Given the description of an element on the screen output the (x, y) to click on. 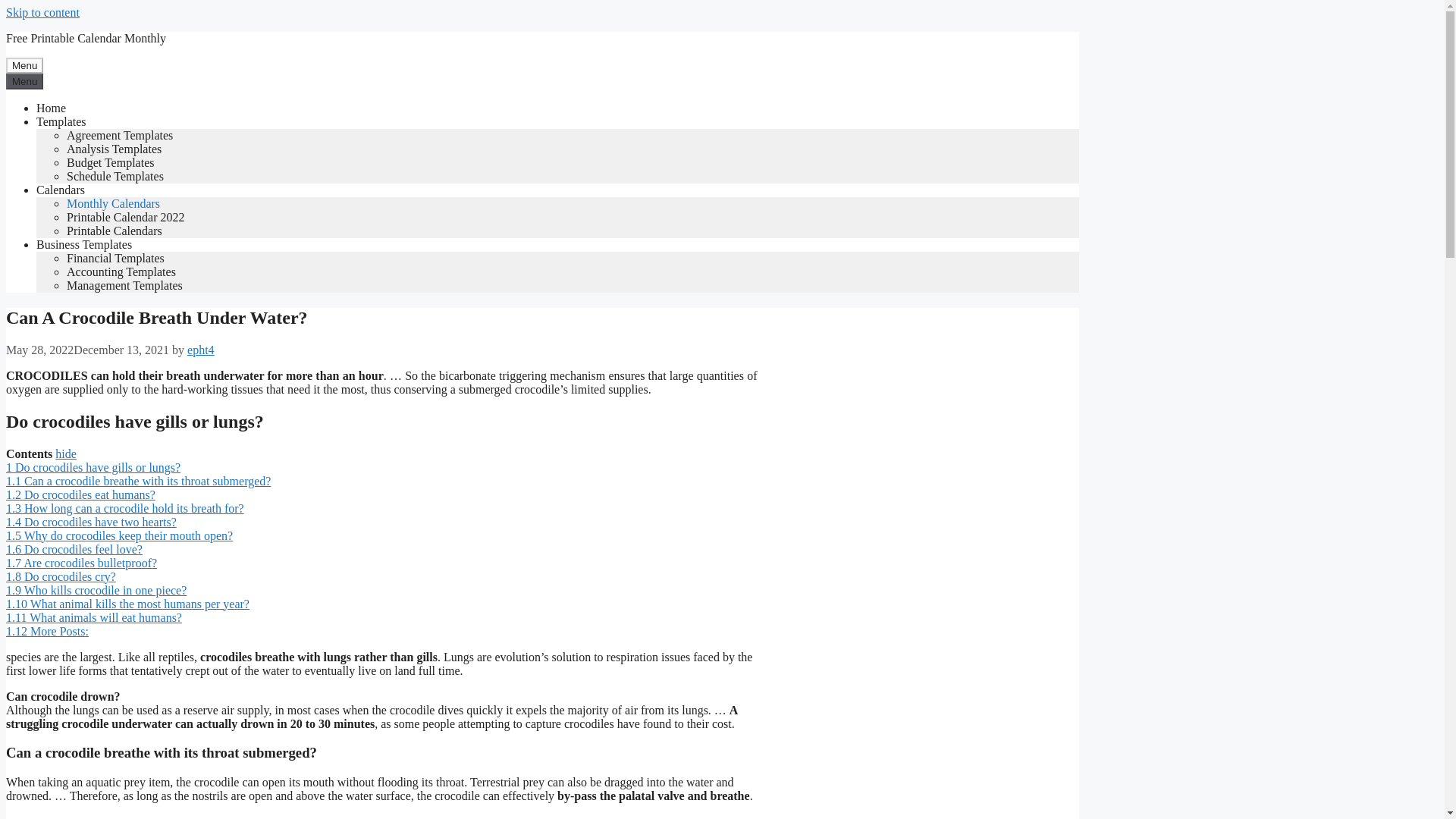
1.11 What animals will eat humans? (93, 617)
Analysis Templates (113, 148)
Financial Templates (115, 257)
Schedule Templates (114, 175)
Budget Templates (110, 162)
Agreement Templates (119, 134)
1 Do crocodiles have gills or lungs? (92, 467)
Skip to content (42, 11)
1.3 How long can a crocodile hold its breath for? (124, 508)
Free Printable Calendar Monthly (85, 38)
